Given the description of an element on the screen output the (x, y) to click on. 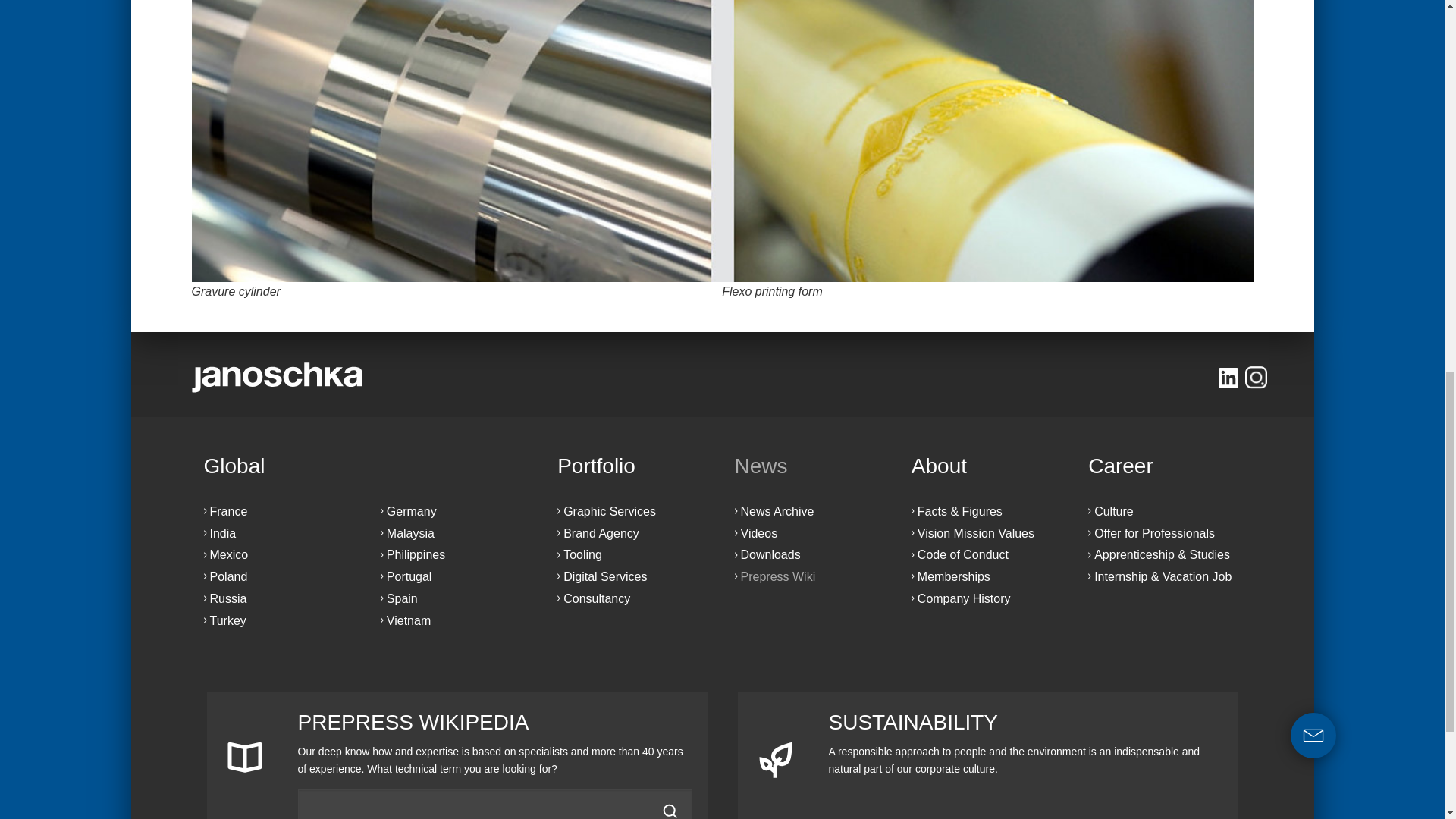
Career (1163, 466)
About (987, 466)
Global (367, 466)
Portfolio (633, 466)
